Given the description of an element on the screen output the (x, y) to click on. 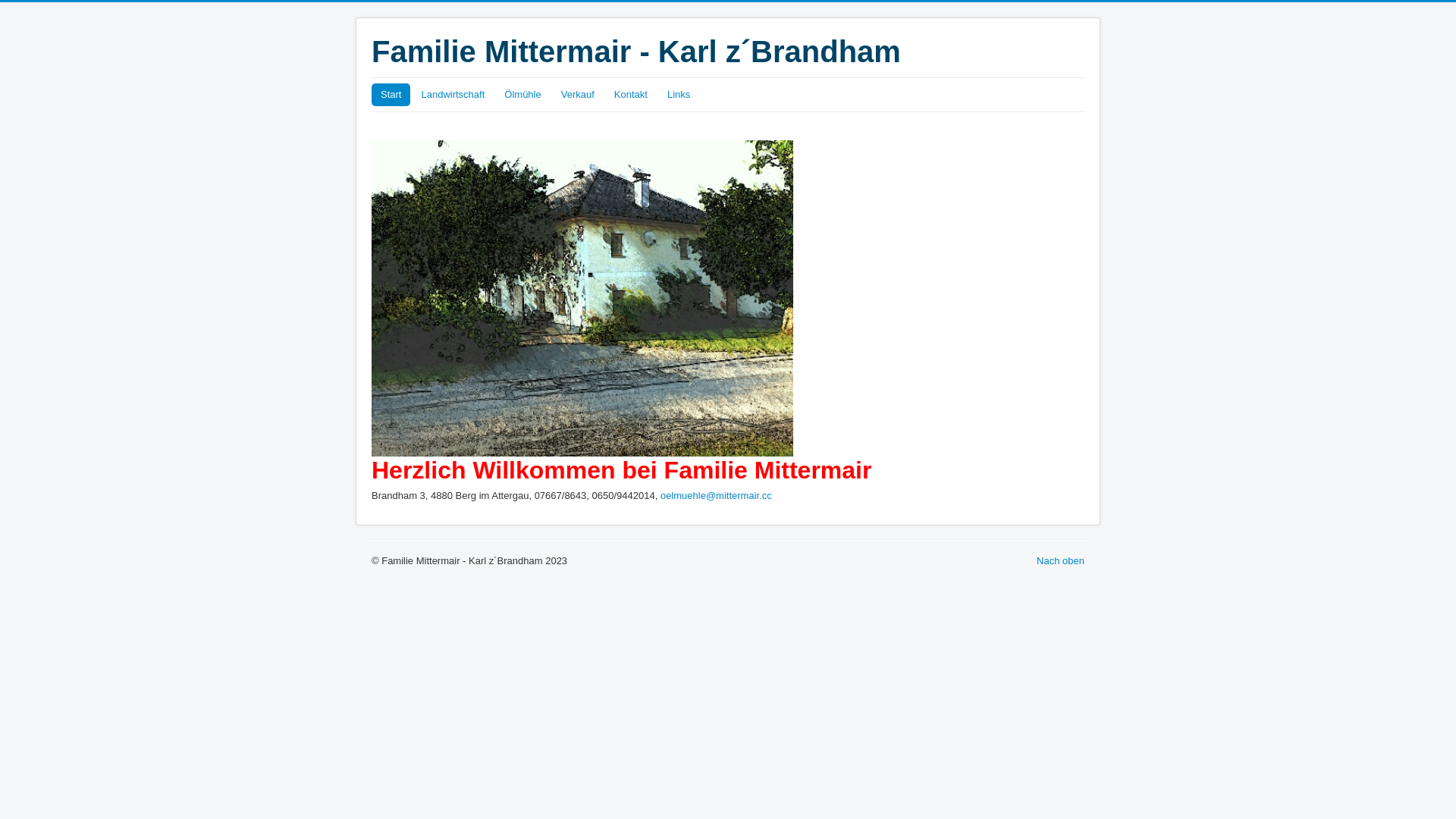
Start Element type: text (390, 94)
Kontakt Element type: text (630, 94)
Landwirtschaft Element type: text (452, 94)
oelmuehle@mittermair.cc Element type: text (715, 495)
Nach oben Element type: text (1060, 560)
Verkauf Element type: text (577, 94)
Links Element type: text (678, 94)
